Given the description of an element on the screen output the (x, y) to click on. 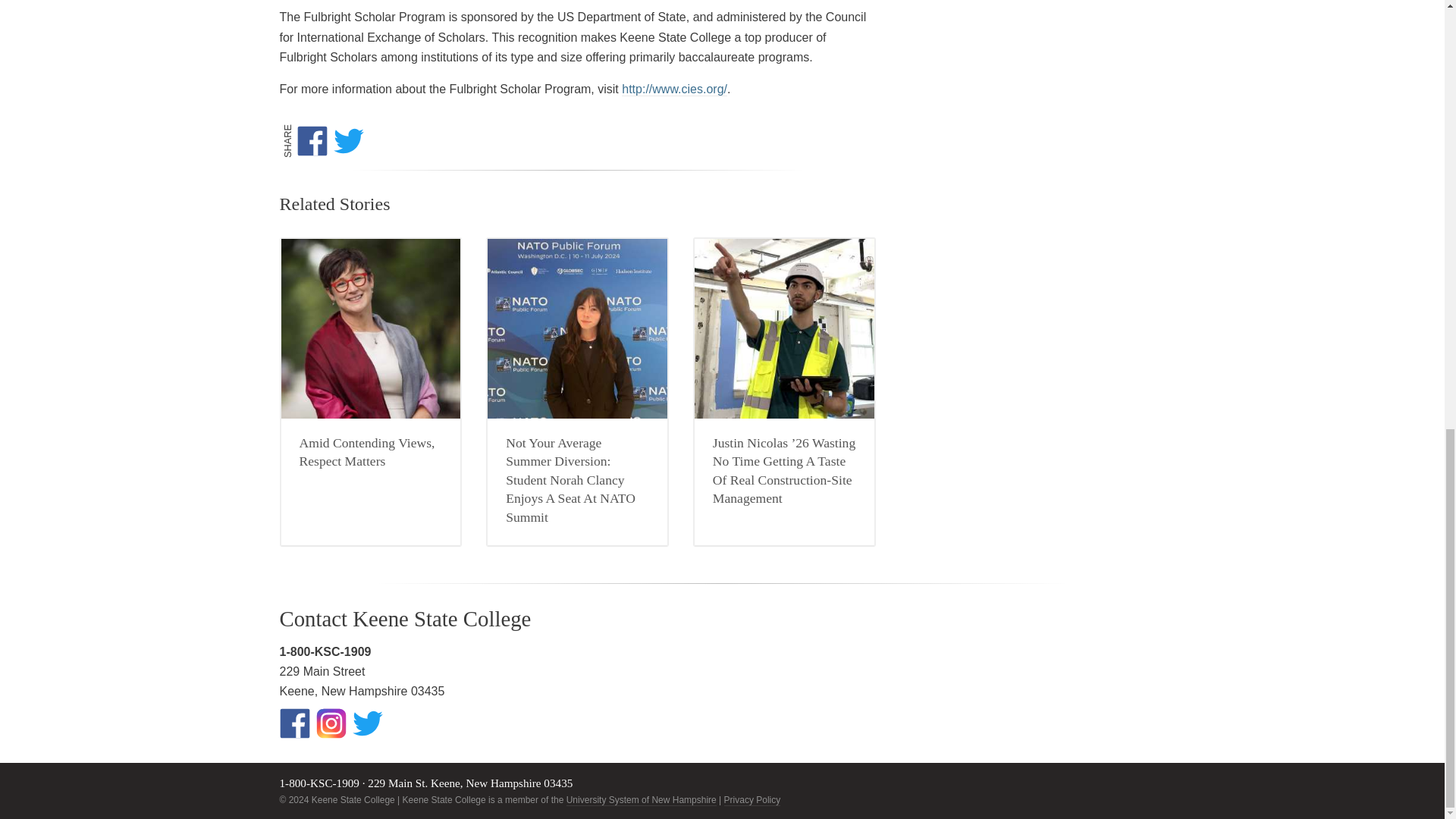
Share this story on Twitter. (351, 141)
Privacy Policy (751, 799)
Visit us on Instagram (330, 723)
Visit us on Facebook (293, 723)
Visit us on Twitter (366, 723)
University System of New Hampshire (641, 799)
Share this story on Facebook. (315, 141)
